Given the description of an element on the screen output the (x, y) to click on. 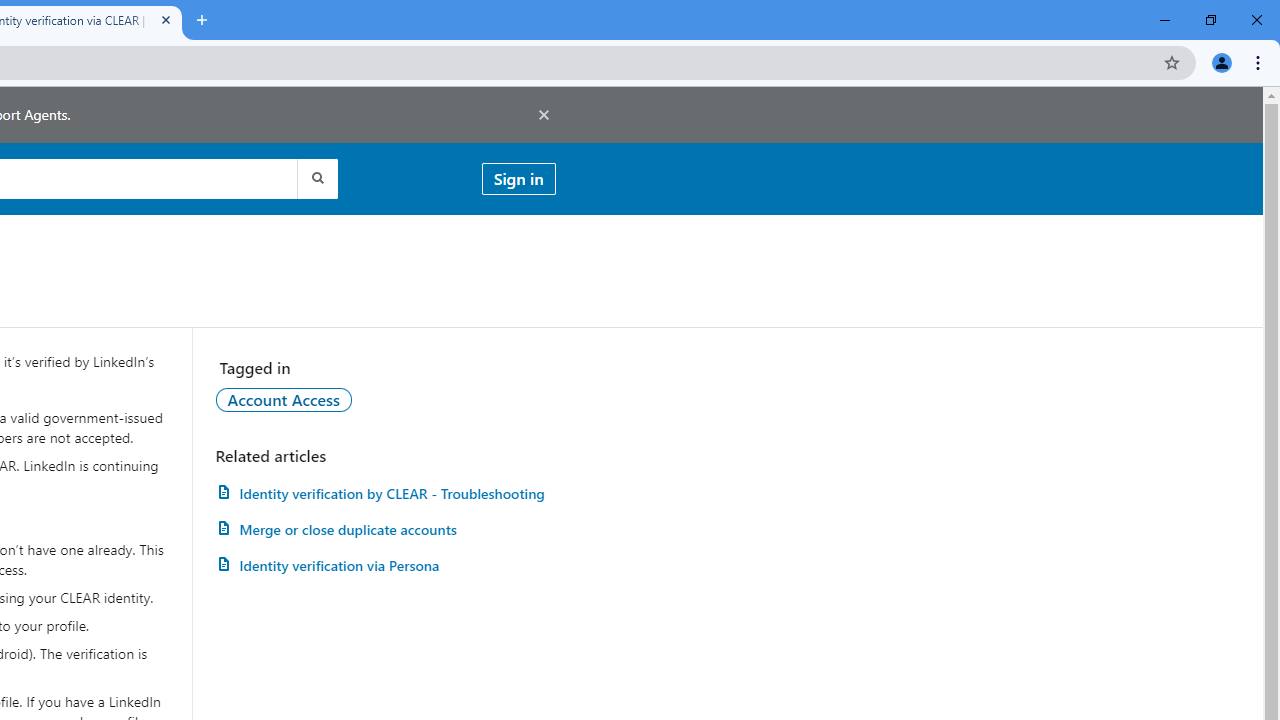
AutomationID: topic-link-a151002 (283, 399)
Identity verification by CLEAR - Troubleshooting (385, 493)
AutomationID: article-link-a1457505 (385, 493)
AutomationID: article-link-a1337200 (385, 529)
AutomationID: article-link-a1631613 (385, 565)
Submit search (316, 178)
Merge or close duplicate accounts (385, 529)
